Given the description of an element on the screen output the (x, y) to click on. 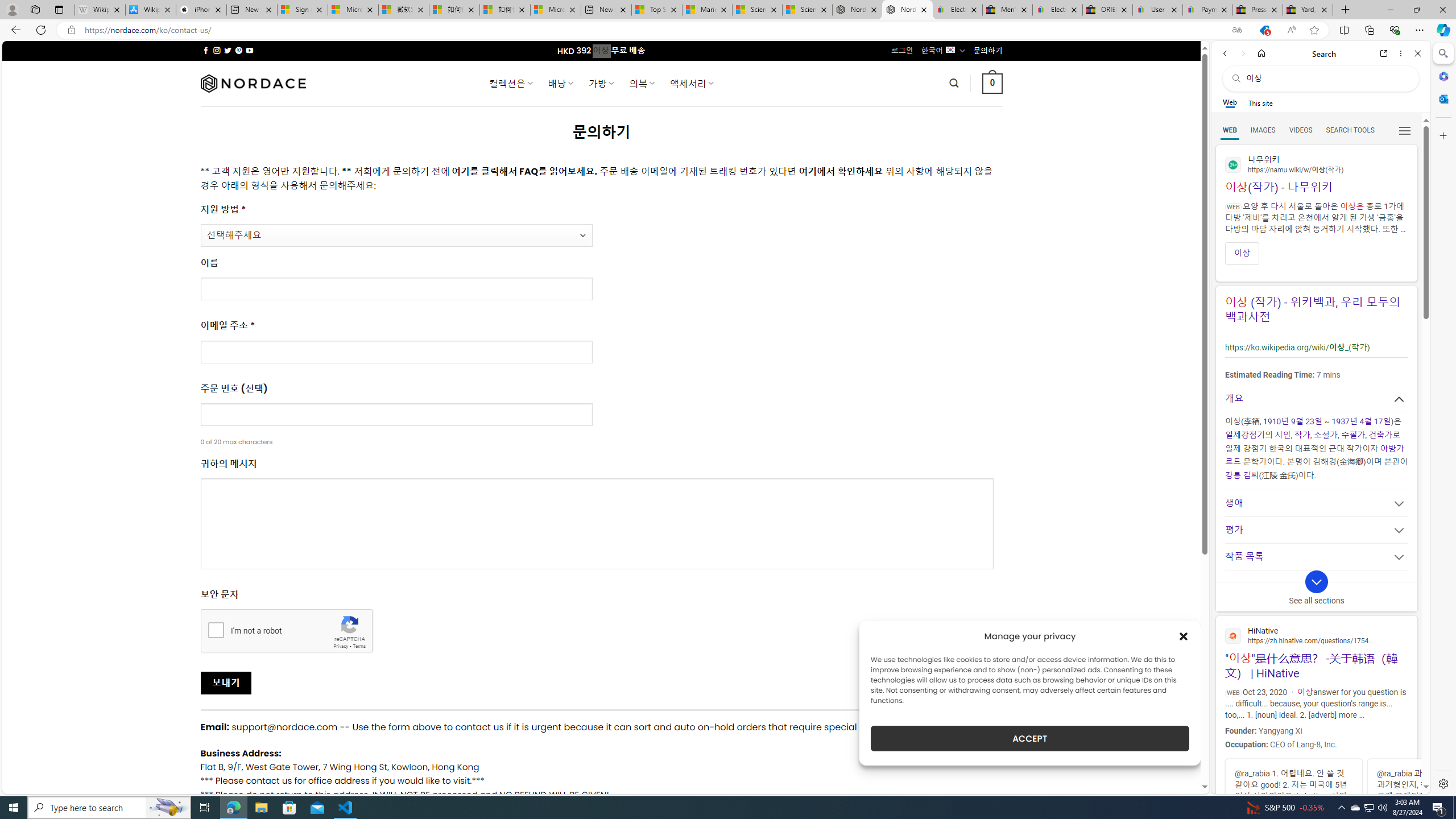
Top Stories - MSN (656, 9)
Occupation: CEO of Lang-8, Inc. (1315, 744)
User Privacy Notice | eBay (1158, 9)
Follow on Twitter (227, 50)
Microsoft account | Account Checkup (555, 9)
